Given the description of an element on the screen output the (x, y) to click on. 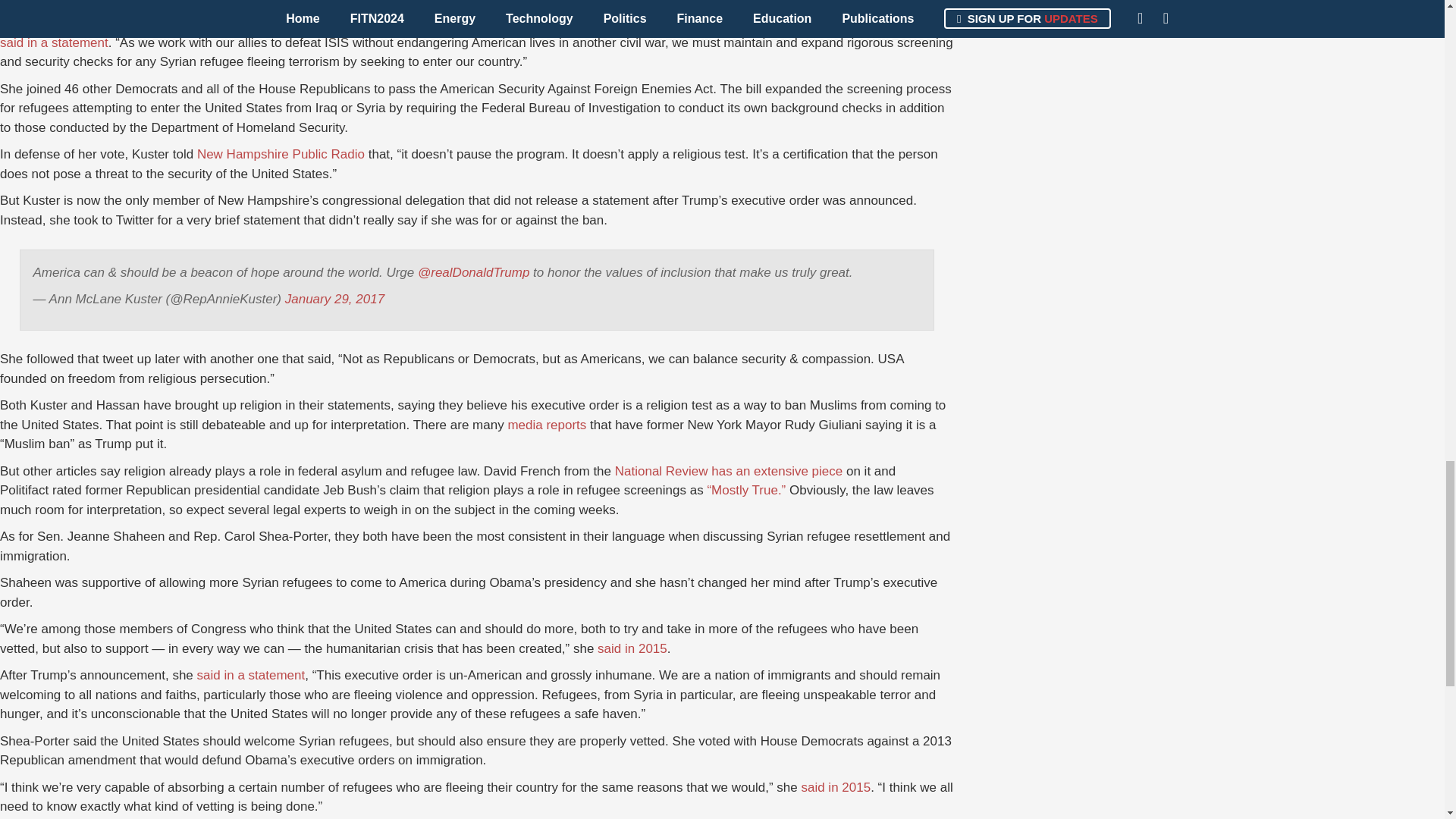
said in 2015 (631, 648)
said in a statement (250, 675)
National Review has an extensive piece (728, 471)
January 29, 2017 (334, 298)
said in a statement (53, 42)
said in 2015 (835, 787)
New Hampshire Public Radio (280, 154)
media reports (546, 424)
